Given the description of an element on the screen output the (x, y) to click on. 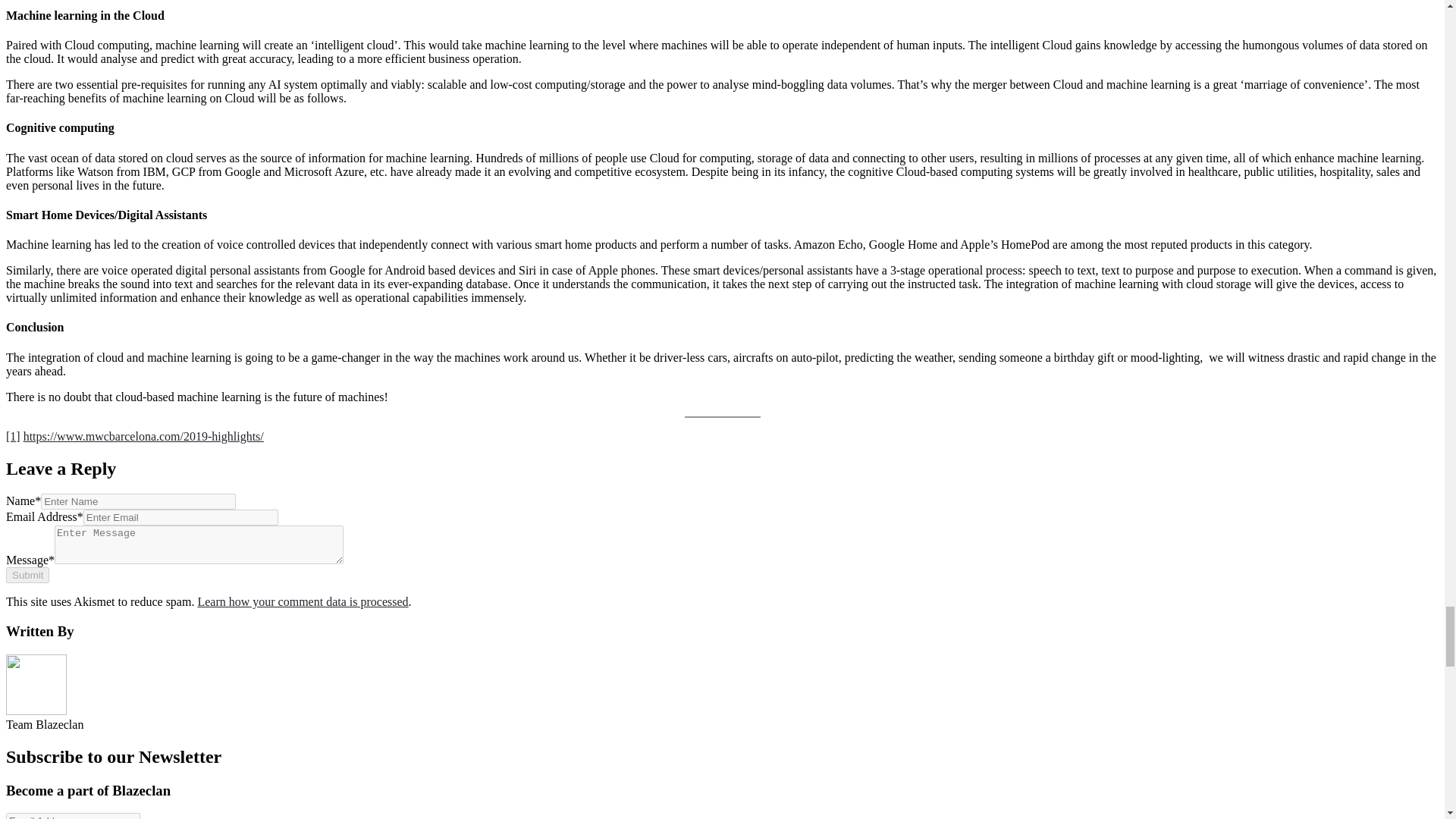
Submit (27, 575)
